Given the description of an element on the screen output the (x, y) to click on. 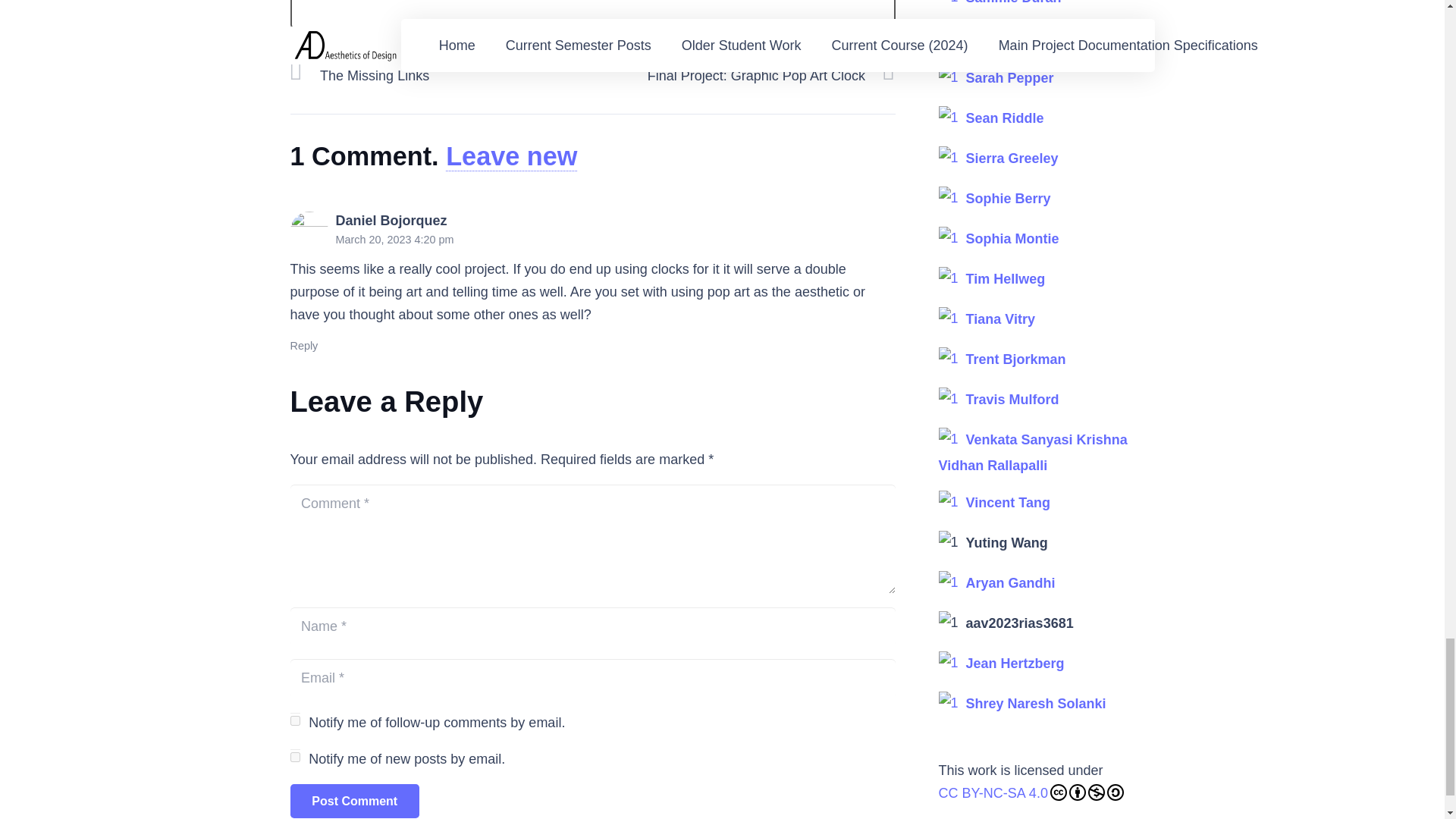
Final Project: Graphic Pop Art Clock (743, 67)
The Missing Links (440, 67)
March 20, 2023 4:20 pm (393, 239)
